Given the description of an element on the screen output the (x, y) to click on. 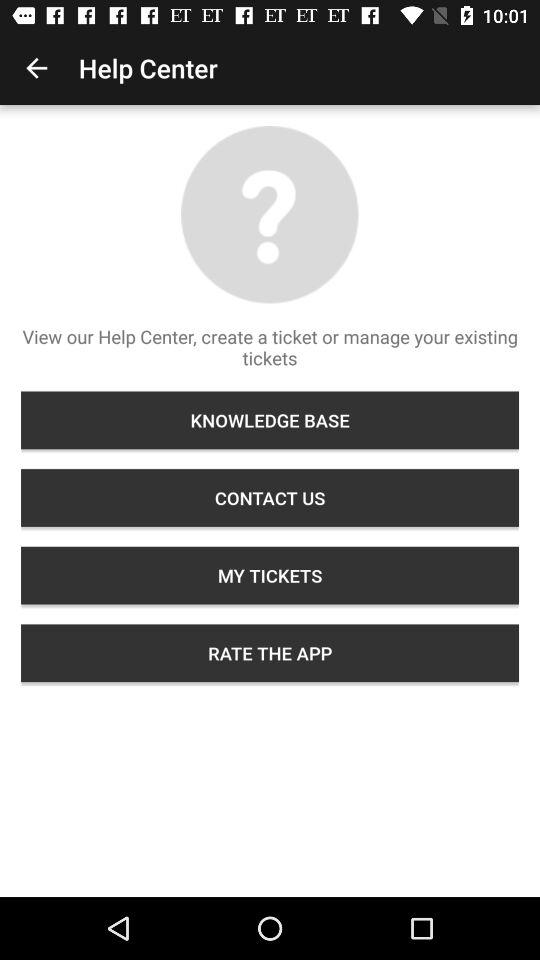
swipe to rate the app icon (270, 653)
